Given the description of an element on the screen output the (x, y) to click on. 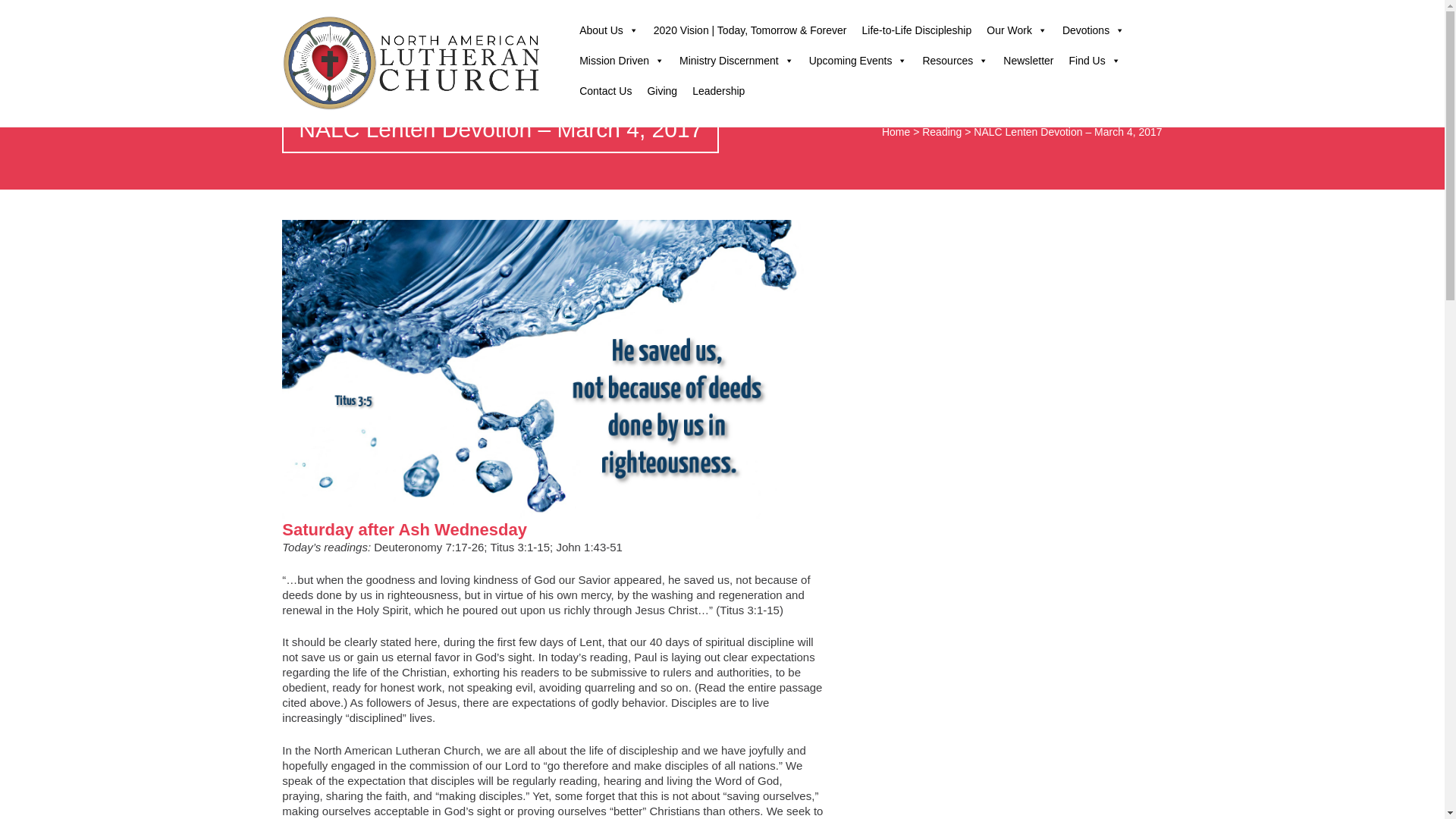
Contact (1021, 15)
Search (21, 12)
About Us (609, 30)
Life-to-Life Discipleship (916, 30)
Tel.:888-551-7254 (959, 11)
DONATE (1129, 10)
North American Lutheran Church -  (413, 63)
Our Work (1016, 30)
Search (1082, 15)
Social Buttons (1051, 15)
